Given the description of an element on the screen output the (x, y) to click on. 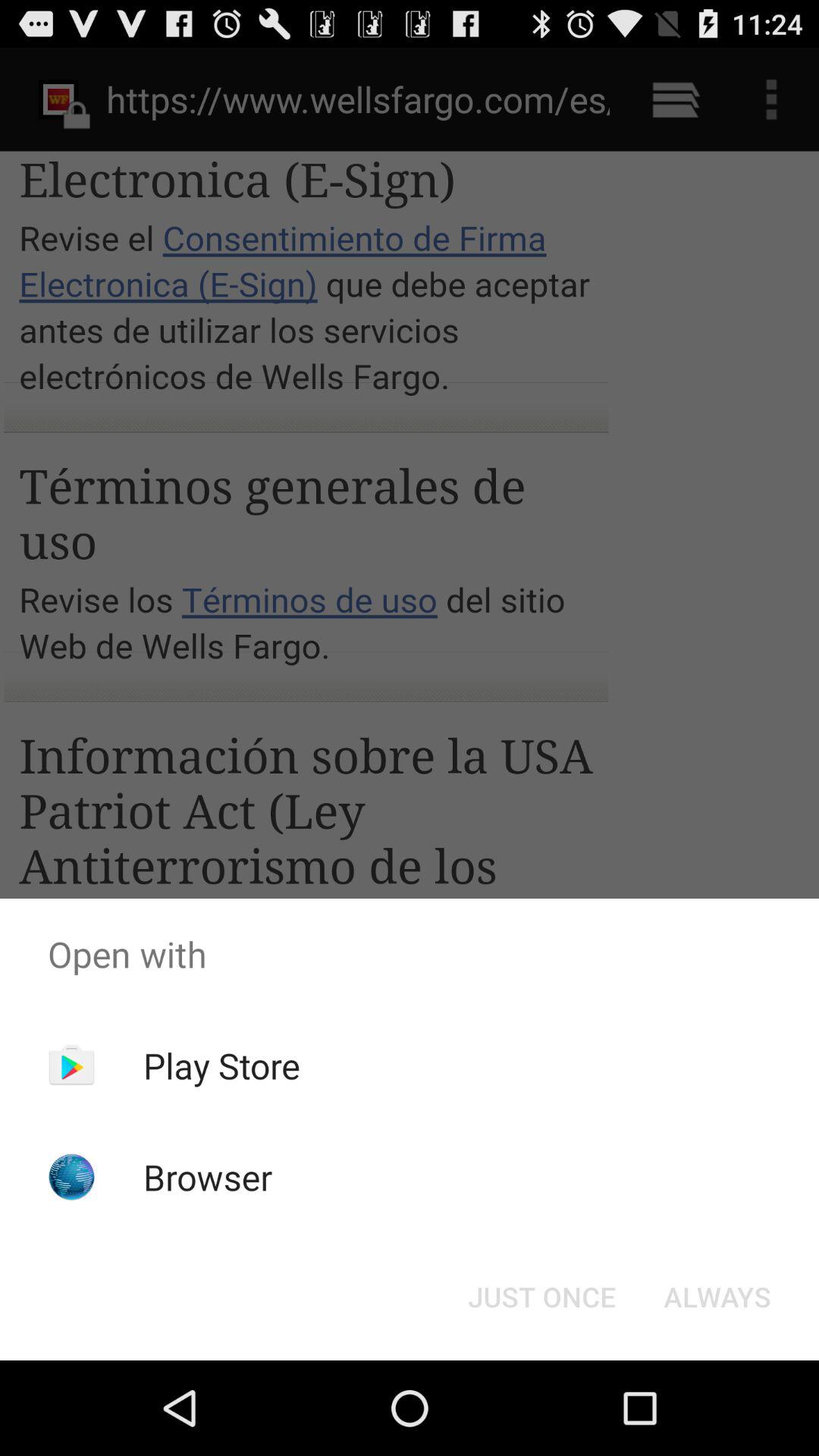
click the always icon (717, 1296)
